Given the description of an element on the screen output the (x, y) to click on. 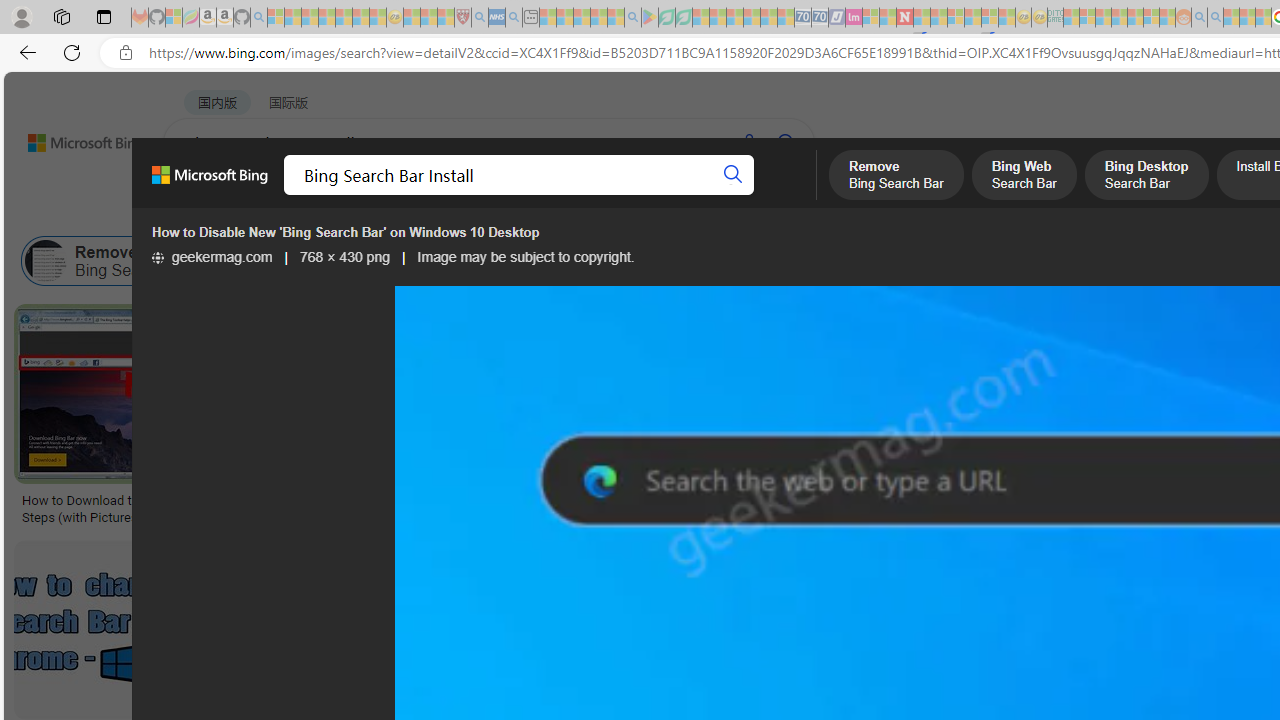
Install Bing (645, 260)
